Given the description of an element on the screen output the (x, y) to click on. 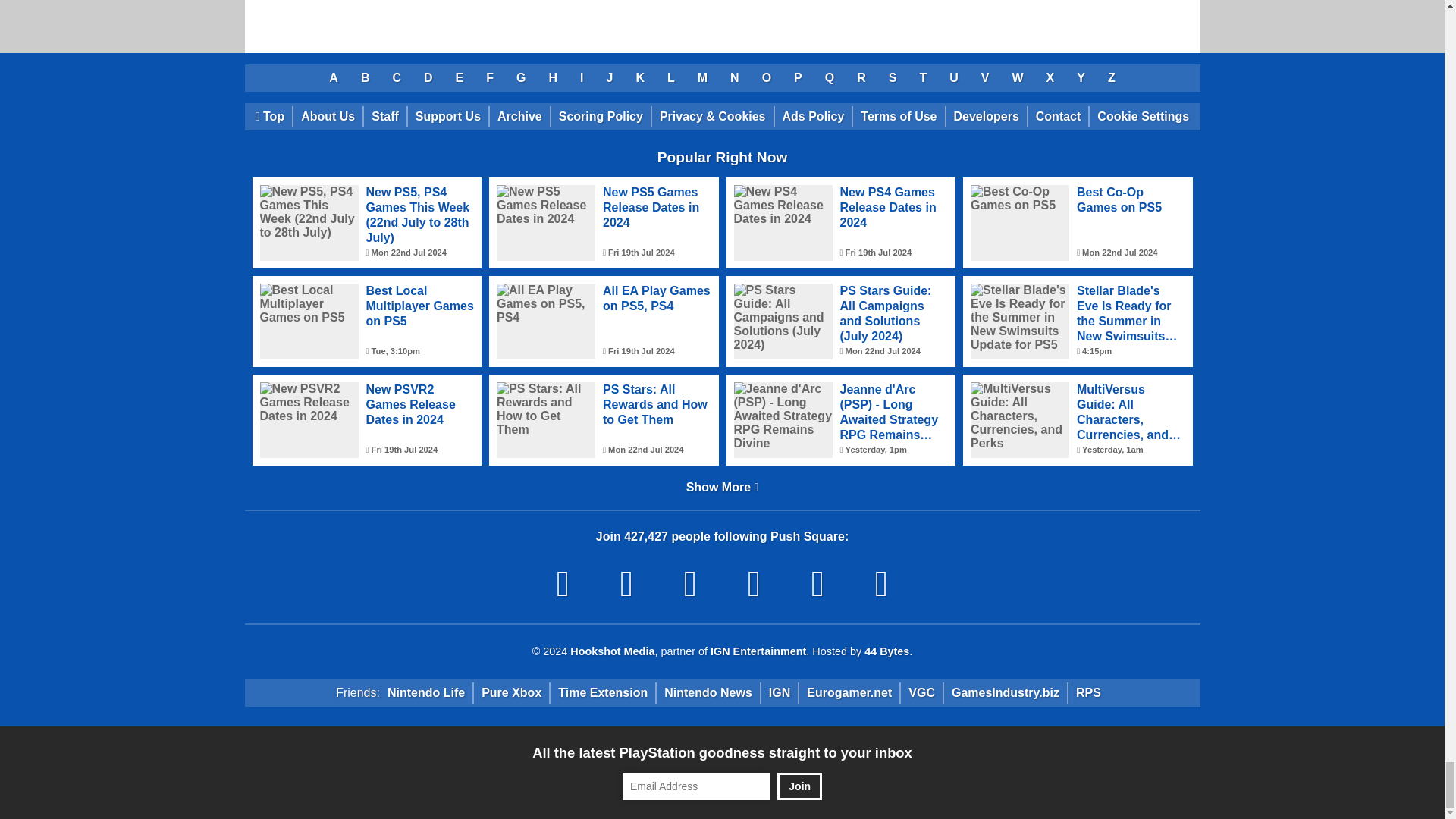
Join (799, 786)
